Given the description of an element on the screen output the (x, y) to click on. 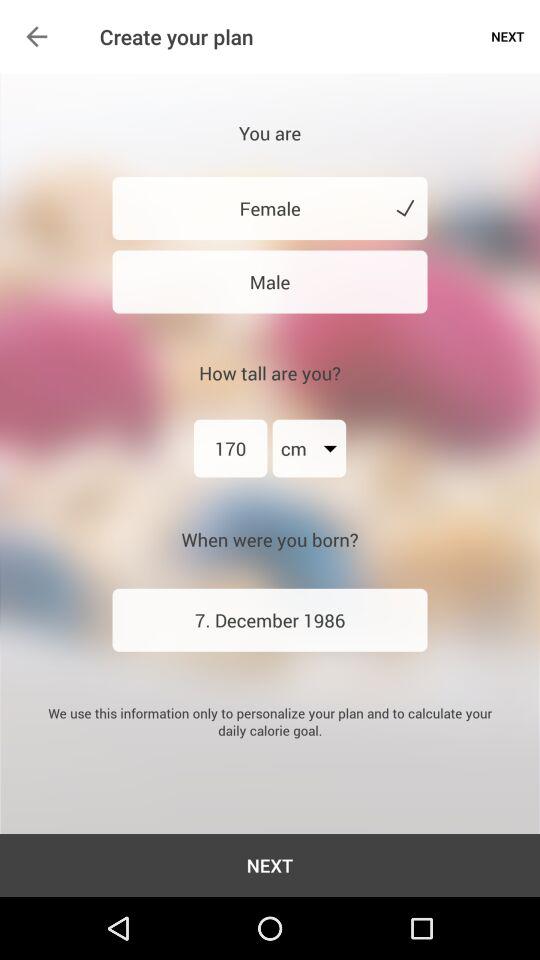
press item below how tall are icon (230, 448)
